Given the description of an element on the screen output the (x, y) to click on. 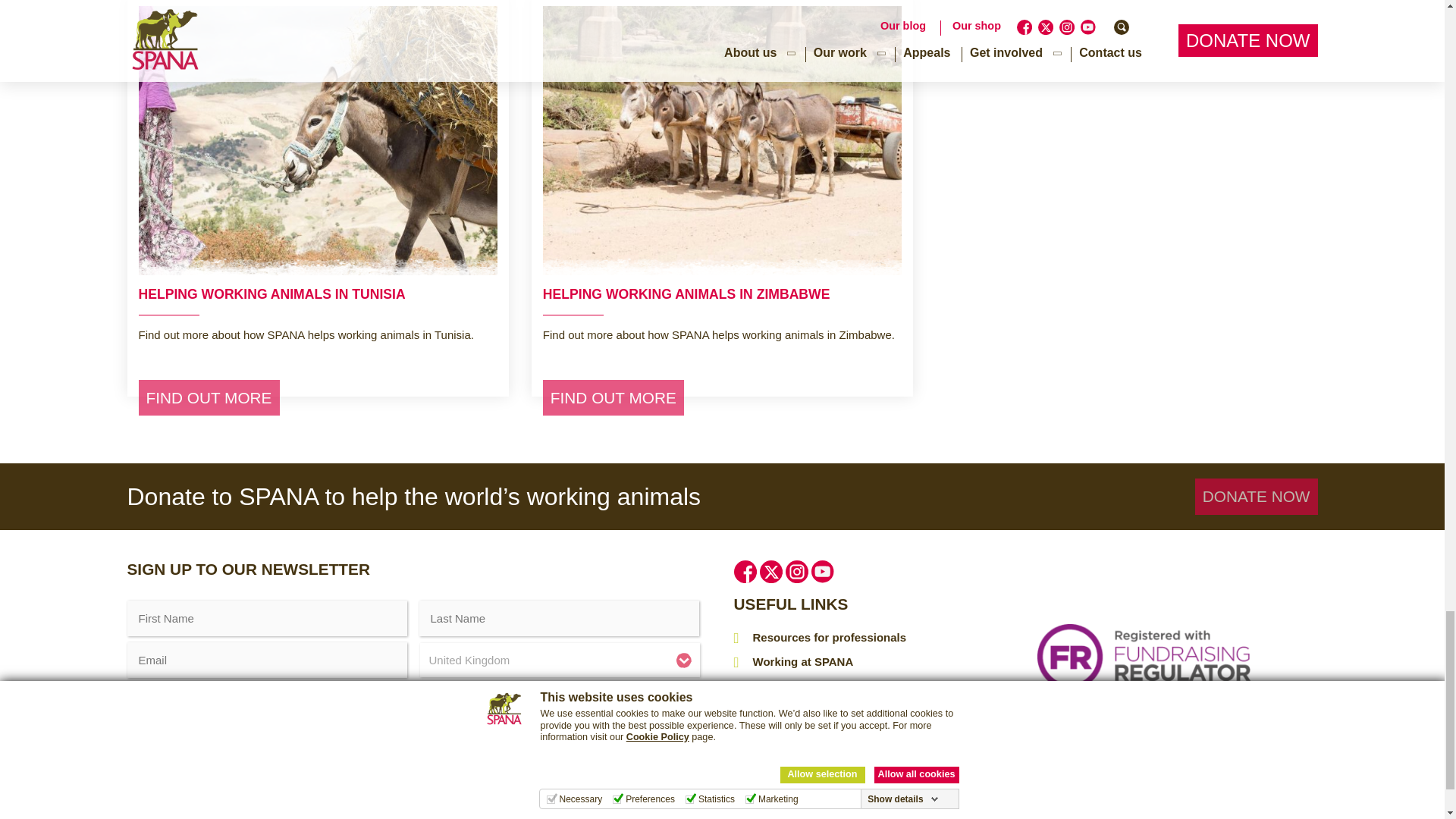
Submit (172, 754)
